Given the description of an element on the screen output the (x, y) to click on. 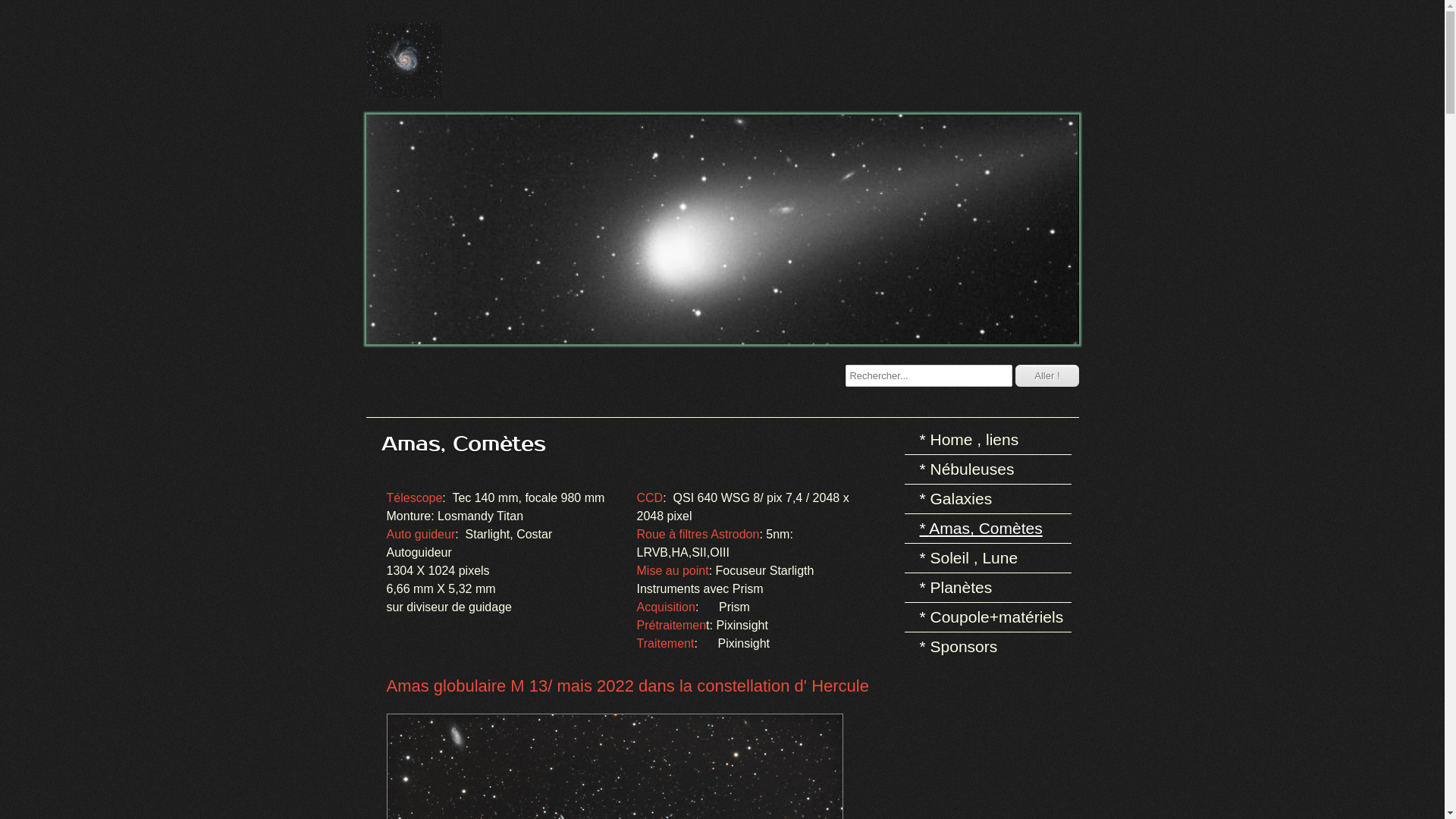
Galaxies Element type: text (991, 498)
Soleil , Lune Element type: text (991, 557)
Home , liens Element type: text (991, 439)
Sponsors Element type: text (991, 646)
